Given the description of an element on the screen output the (x, y) to click on. 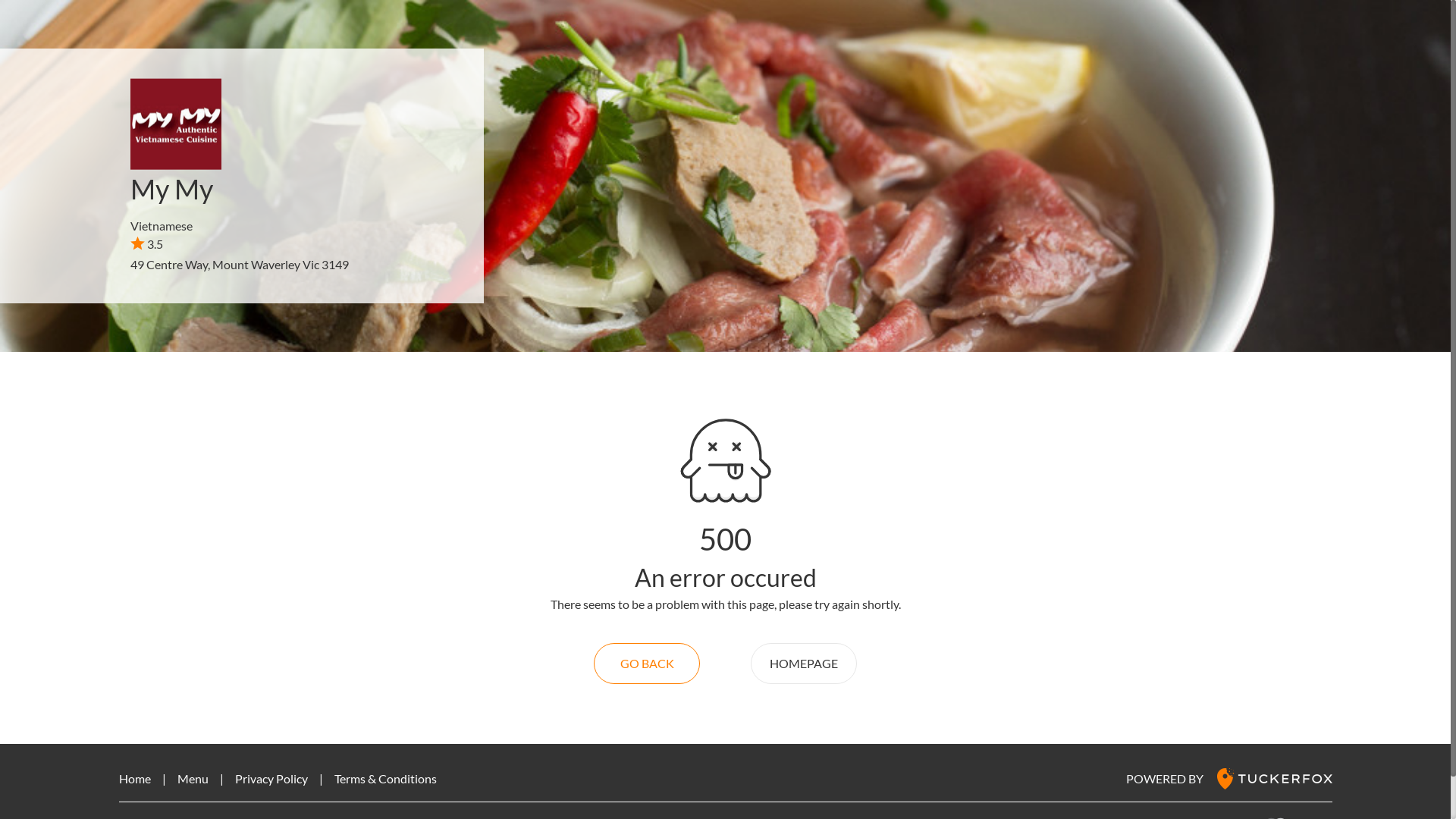
My My Element type: text (171, 188)
Privacy Policy Element type: text (271, 778)
HOMEPAGE Element type: text (803, 663)
Home Element type: text (134, 778)
3.5 Element type: text (146, 243)
Terms & Conditions Element type: text (384, 778)
Menu Element type: text (192, 778)
GO BACK Element type: text (646, 663)
